Given the description of an element on the screen output the (x, y) to click on. 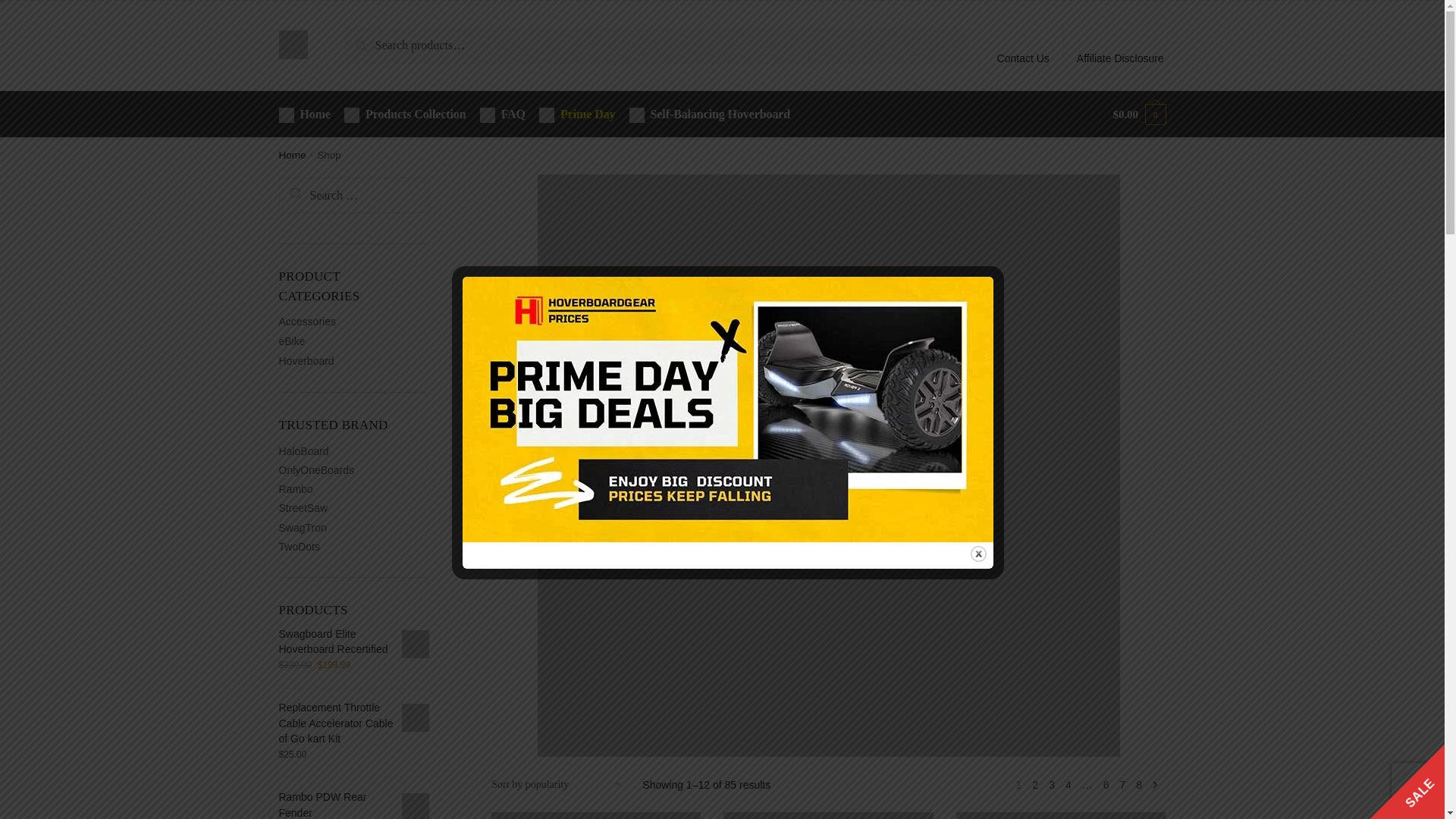
Search (365, 38)
Home (308, 114)
Home (292, 154)
View your shopping cart (1139, 114)
Halo Board Beast All-Terrain Wheels (1061, 815)
Prime Day (576, 114)
FAQ (502, 114)
Products Collection (404, 114)
Search (314, 194)
Electric Longboard 38-inch Onlyone O-2 (596, 815)
